Given the description of an element on the screen output the (x, y) to click on. 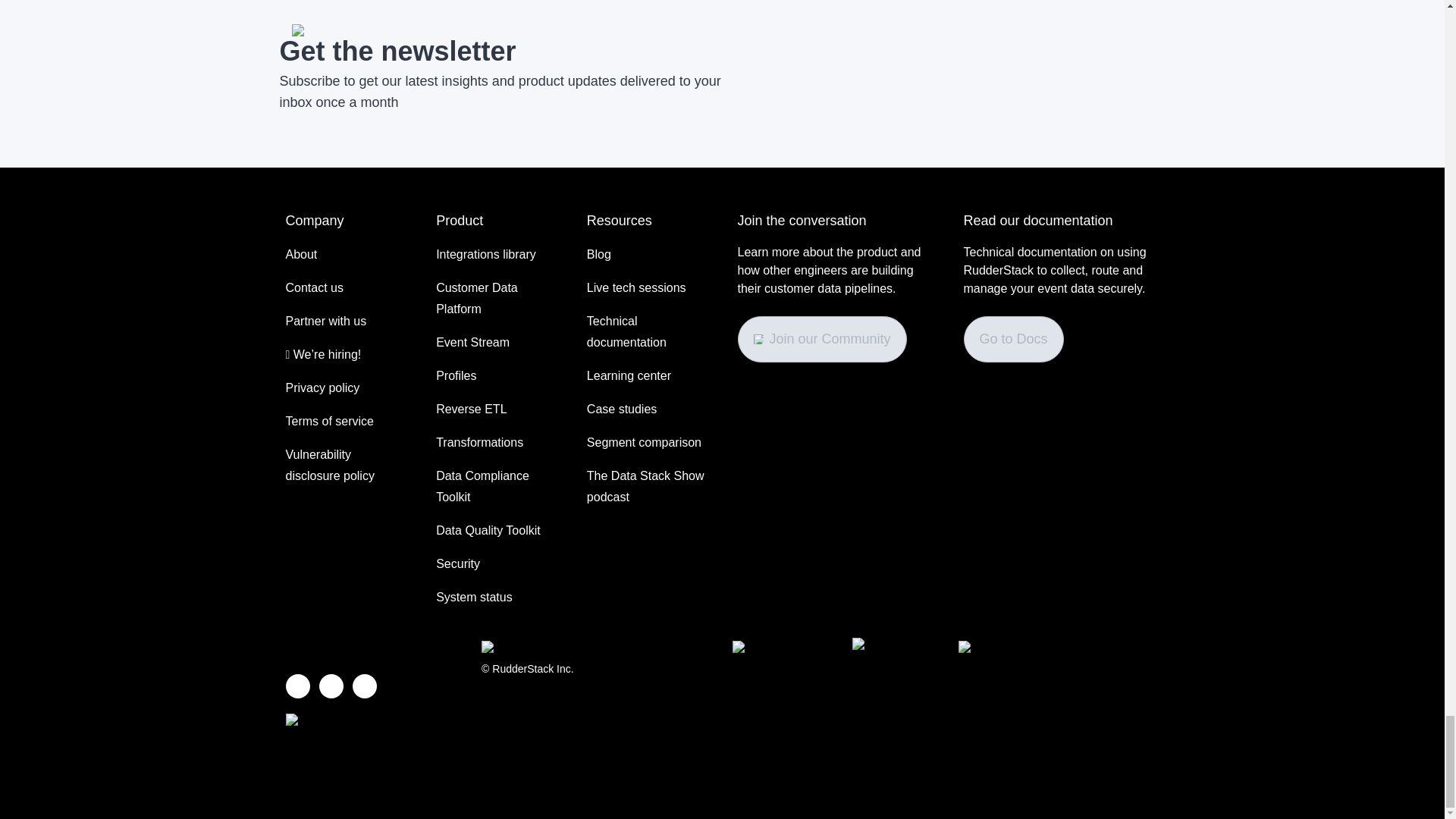
Event Stream (472, 341)
About (301, 253)
Customer Data Platform (495, 297)
Privacy policy (322, 387)
Vulnerability disclosure policy (345, 464)
Integrations library (485, 253)
Partner with us (325, 320)
Contact us (313, 287)
Terms of service (328, 420)
